Given the description of an element on the screen output the (x, y) to click on. 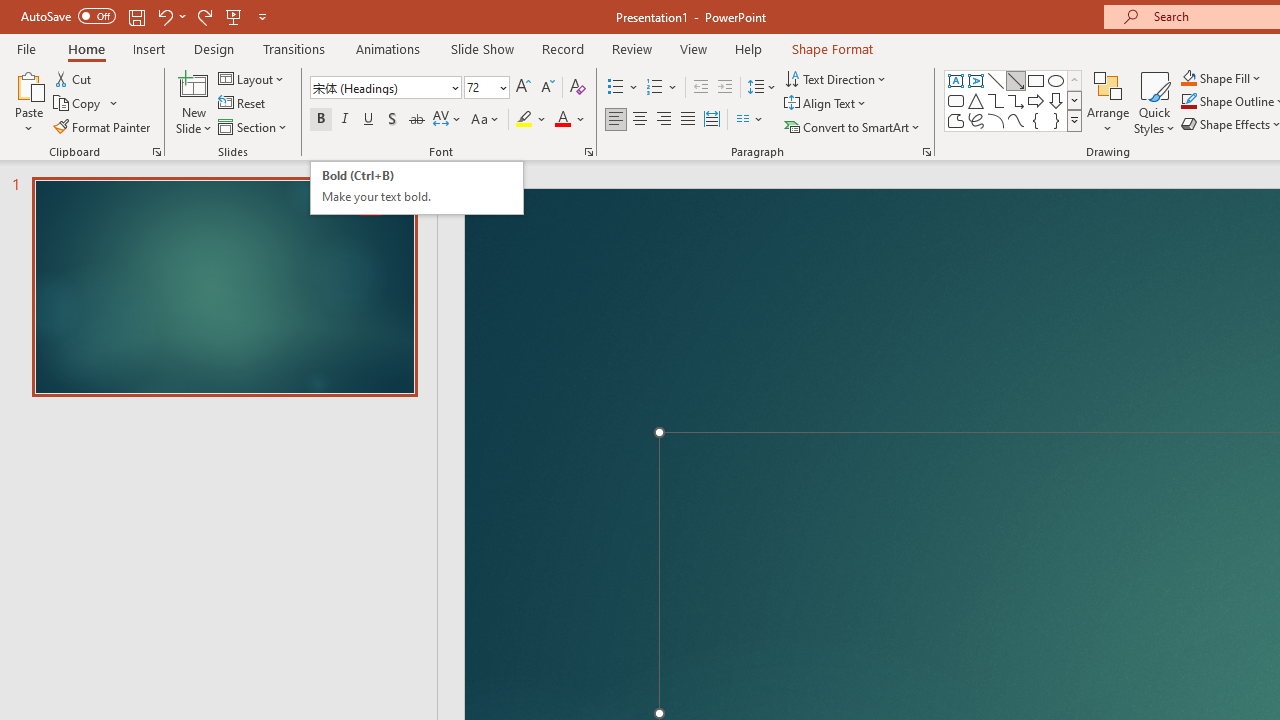
Row Down (1074, 100)
Cut (73, 78)
Reset (243, 103)
Font Size (480, 87)
Arrange (1108, 102)
Office Clipboard... (156, 151)
Line Spacing (762, 87)
Change Case (486, 119)
Increase Font Size (522, 87)
Strikethrough (416, 119)
